Given the description of an element on the screen output the (x, y) to click on. 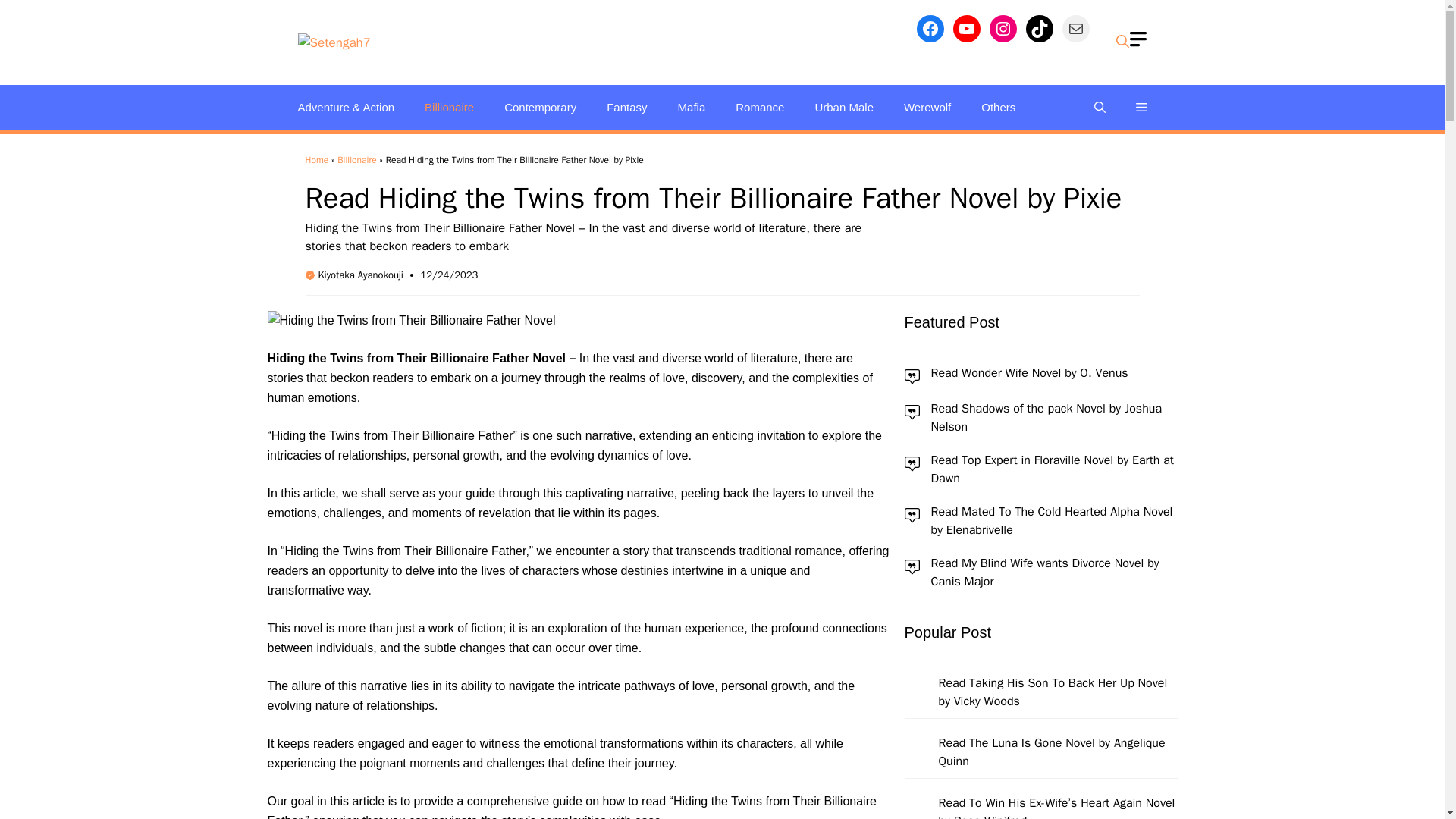
Billionaire (449, 107)
TikTok (1038, 28)
Instagram (1002, 28)
Fantasy (626, 107)
Billionaire (357, 159)
Romance (759, 107)
Mail (1075, 28)
Mafia (691, 107)
YouTube (965, 28)
Kiyotaka Ayanokouji (360, 274)
Contemporary (540, 107)
Others (998, 107)
Facebook (929, 28)
Urban Male (843, 107)
Werewolf (927, 107)
